Given the description of an element on the screen output the (x, y) to click on. 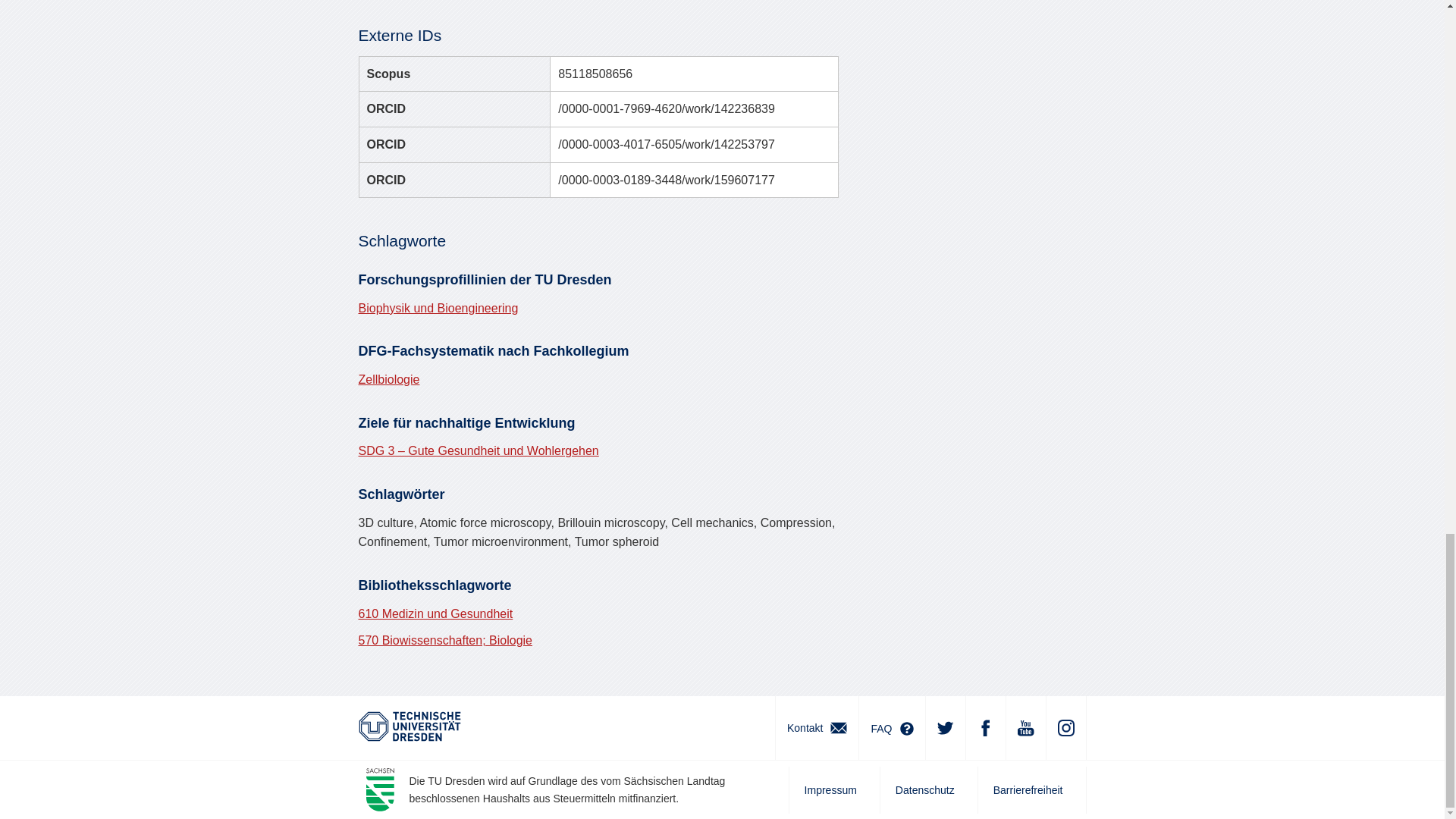
Zellbiologie (388, 379)
Barrierefreiheit (1031, 790)
FAQ (891, 728)
Datenschutz (927, 790)
Kontakt (816, 728)
Biophysik und Bioengineering (438, 308)
Impressum (834, 790)
